Given the description of an element on the screen output the (x, y) to click on. 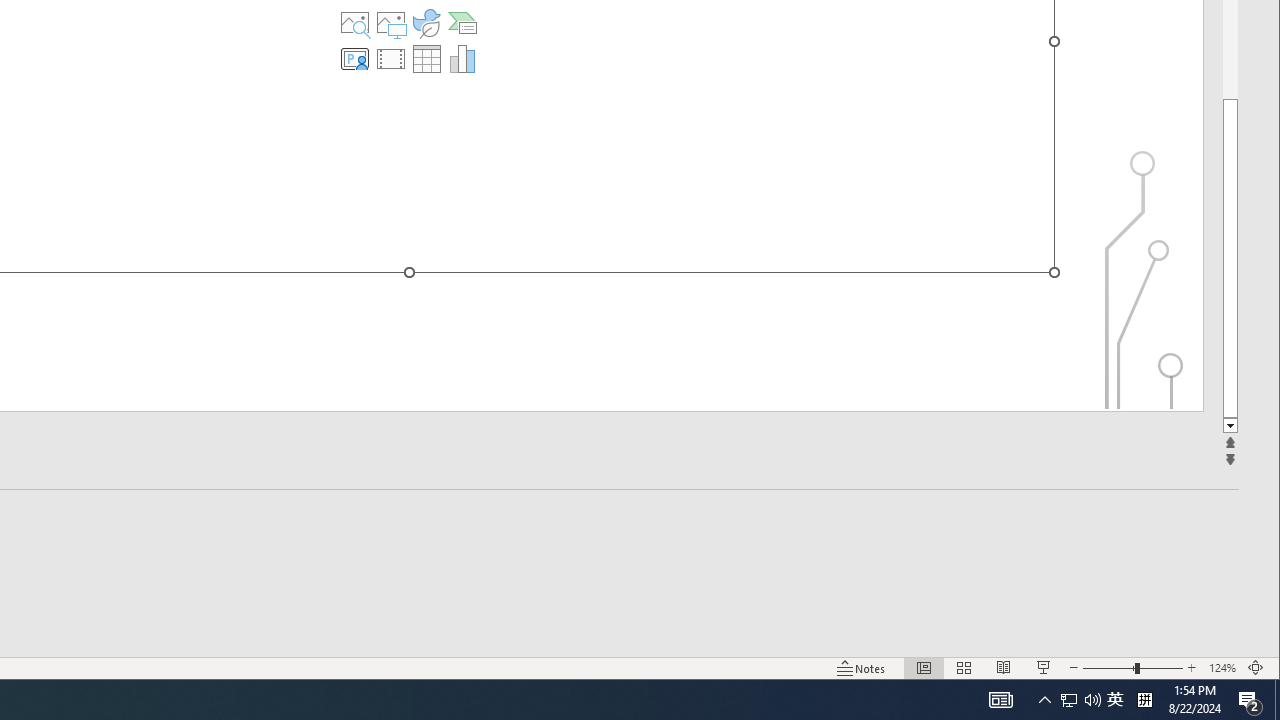
Notification Chevron (1044, 699)
Notes  (861, 668)
Slide Show (1115, 699)
Stock Images (1043, 668)
Zoom 124% (355, 22)
Insert Video (1222, 668)
Reading View (391, 58)
Insert Chart (1004, 668)
Show desktop (1069, 699)
Zoom (462, 58)
Zoom In (1277, 699)
Zoom to Fit  (1132, 668)
